Given the description of an element on the screen output the (x, y) to click on. 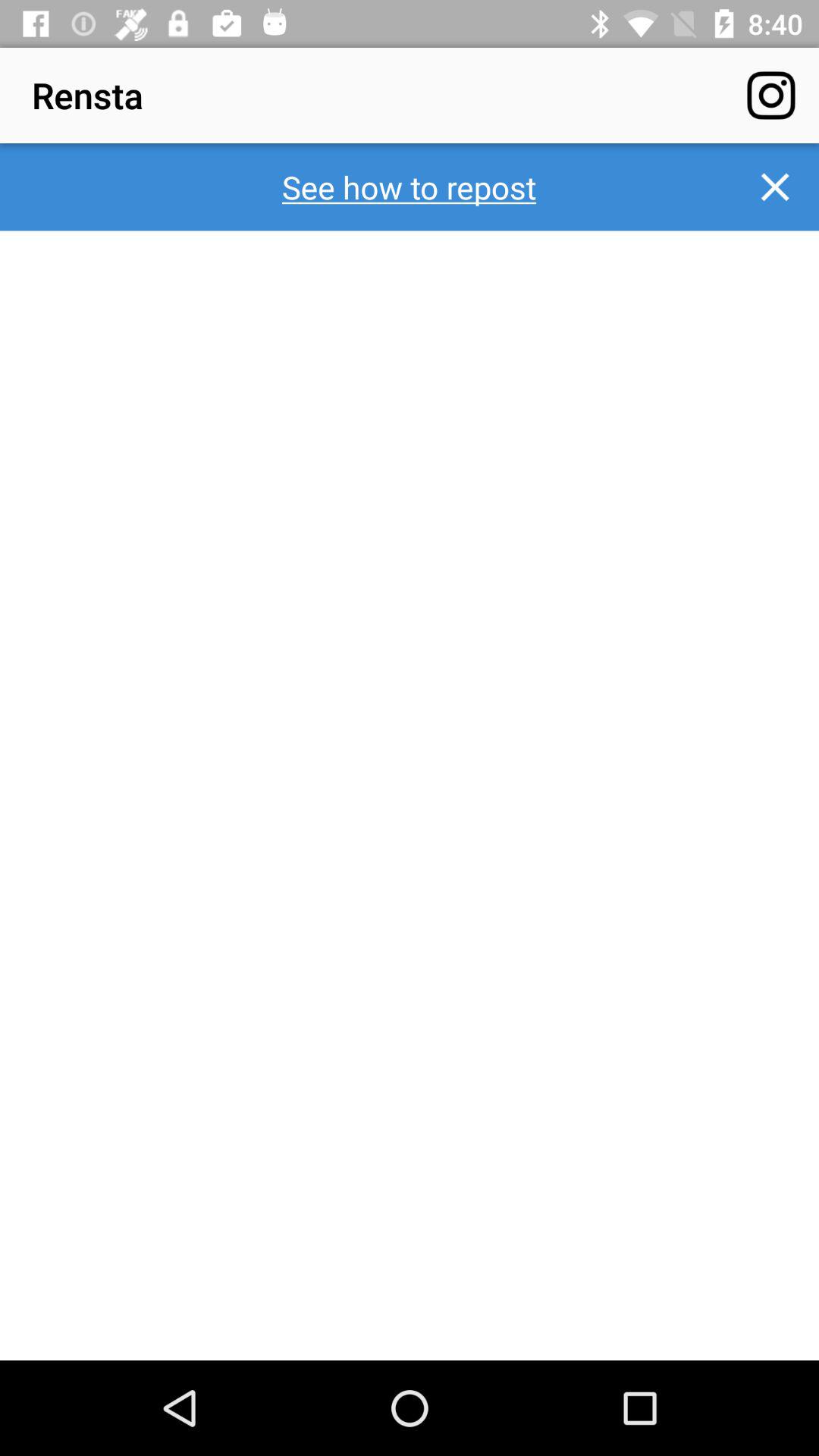
choose item next to the see how to icon (775, 186)
